Given the description of an element on the screen output the (x, y) to click on. 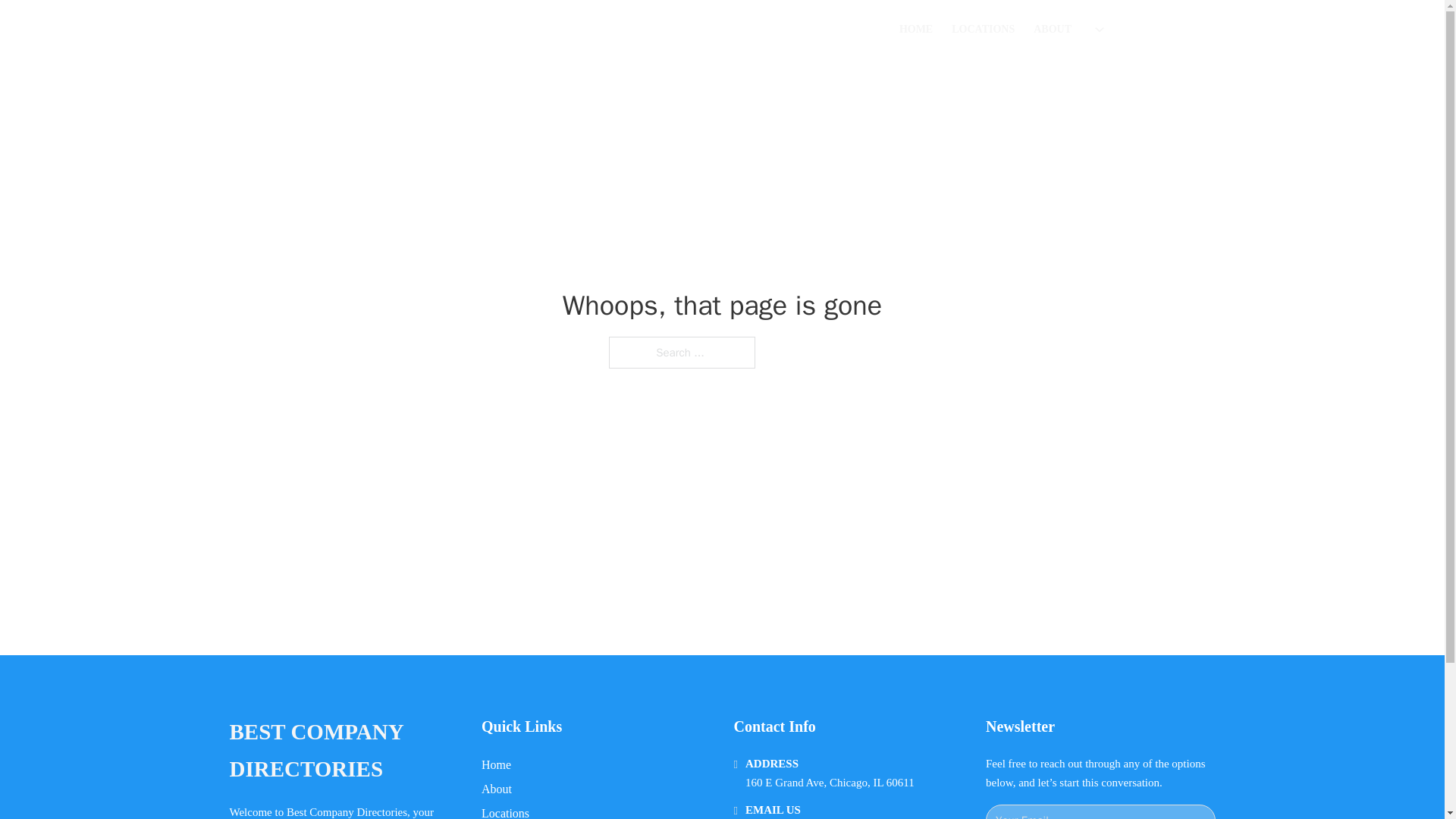
About (496, 788)
LOCATIONS (982, 29)
HOME (915, 29)
BEST COMPANY DIRECTORIES (343, 750)
Locations (505, 811)
BEST COMPANY DIRECTORIES (455, 28)
Home (496, 764)
